Given the description of an element on the screen output the (x, y) to click on. 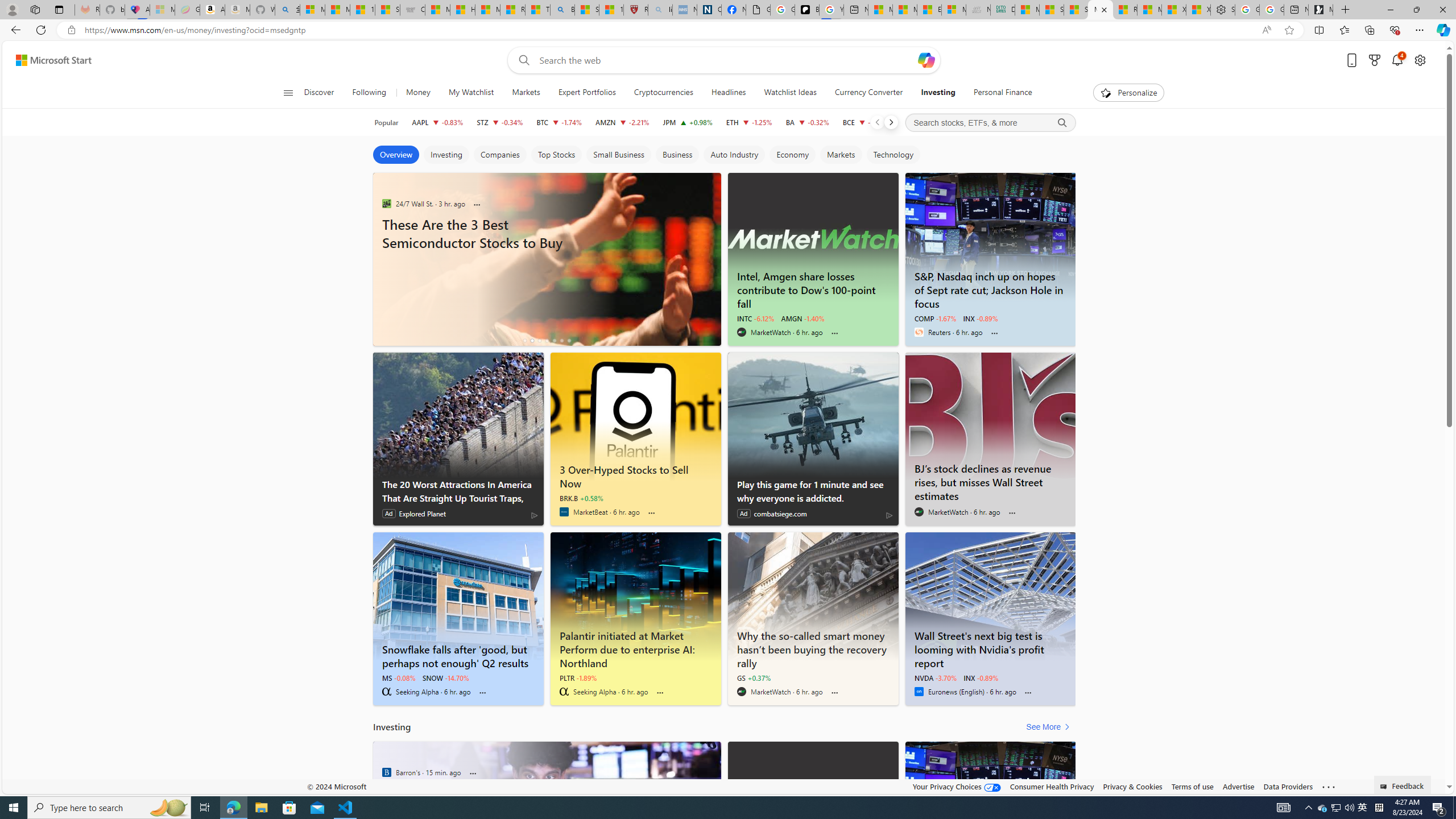
AdChoices (888, 514)
JPM JPMORGAN CHASE & CO. increase 216.71 +2.11 +0.98% (687, 122)
Currency Converter (868, 92)
Top Stocks (555, 154)
